Given the description of an element on the screen output the (x, y) to click on. 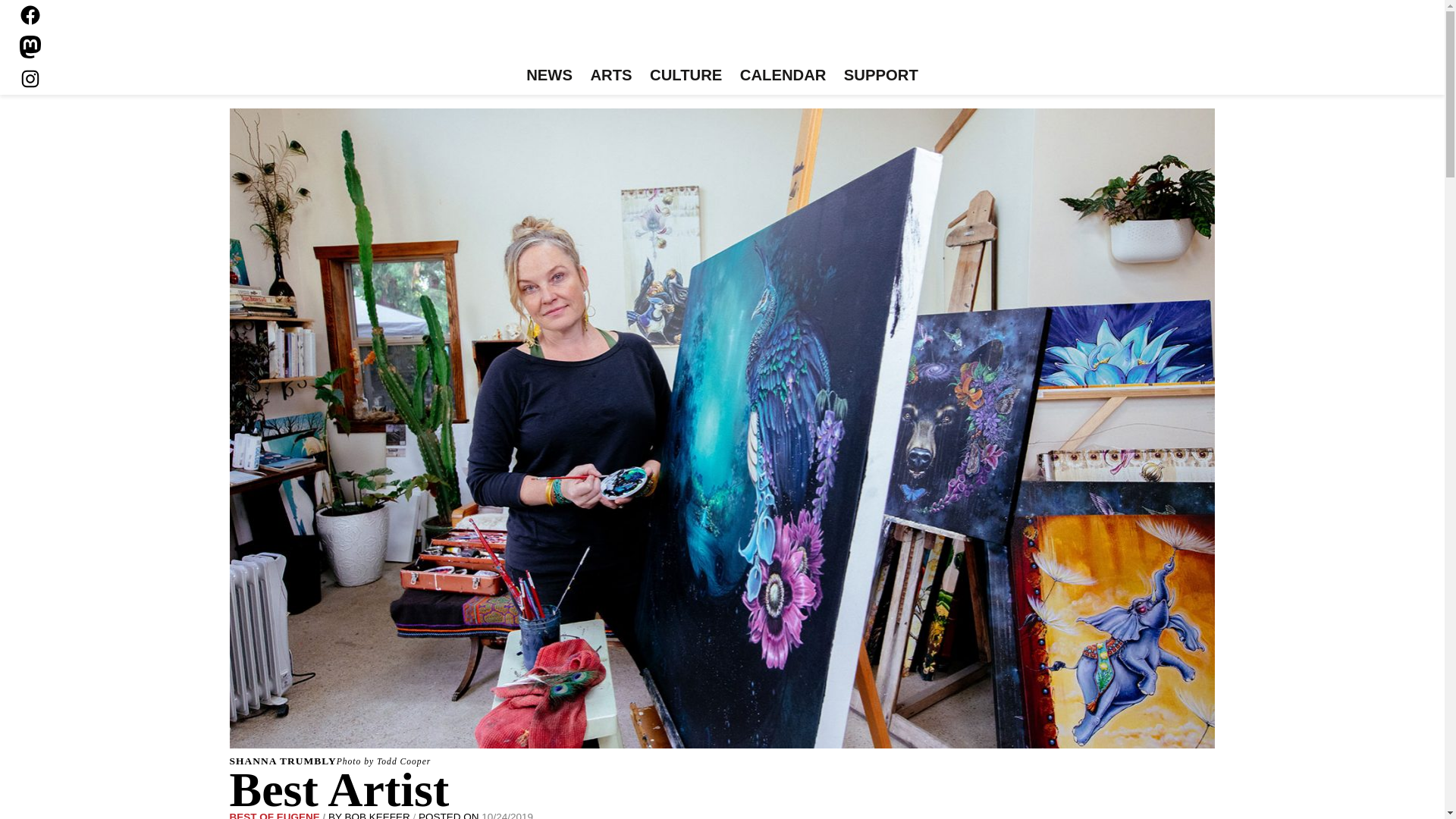
NEWS (548, 75)
CULTURE (685, 75)
CALENDAR (782, 75)
ARTS (611, 75)
Mastodon (30, 47)
Facebook (30, 15)
Eugene Weekly (721, 37)
SUPPORT (880, 75)
Instagram (30, 78)
